Given the description of an element on the screen output the (x, y) to click on. 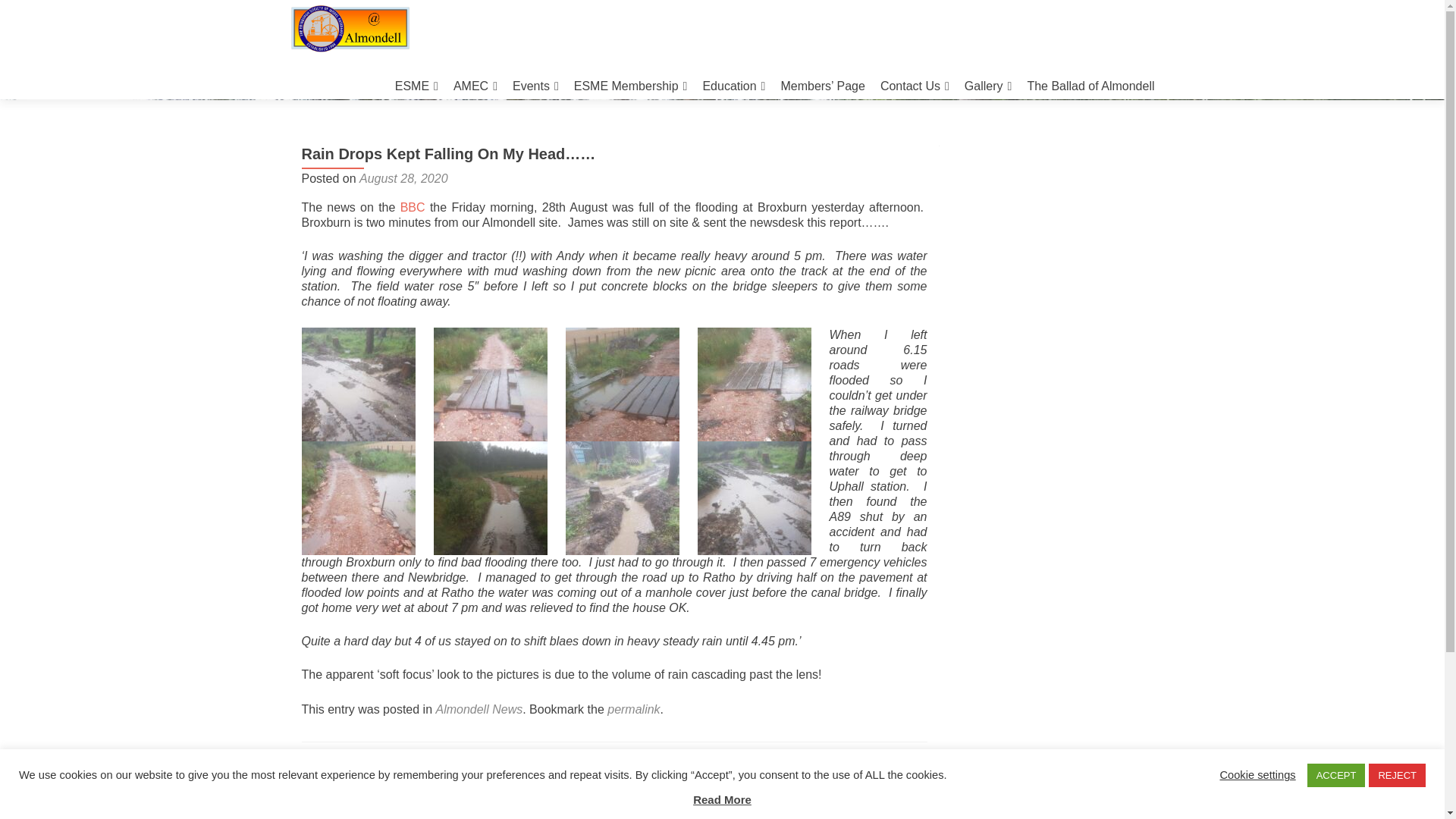
Contact Us (914, 85)
Education (733, 85)
AMEC (474, 85)
ESME Membership (630, 85)
Events (535, 85)
Gallery (987, 85)
ESME (416, 85)
